Given the description of an element on the screen output the (x, y) to click on. 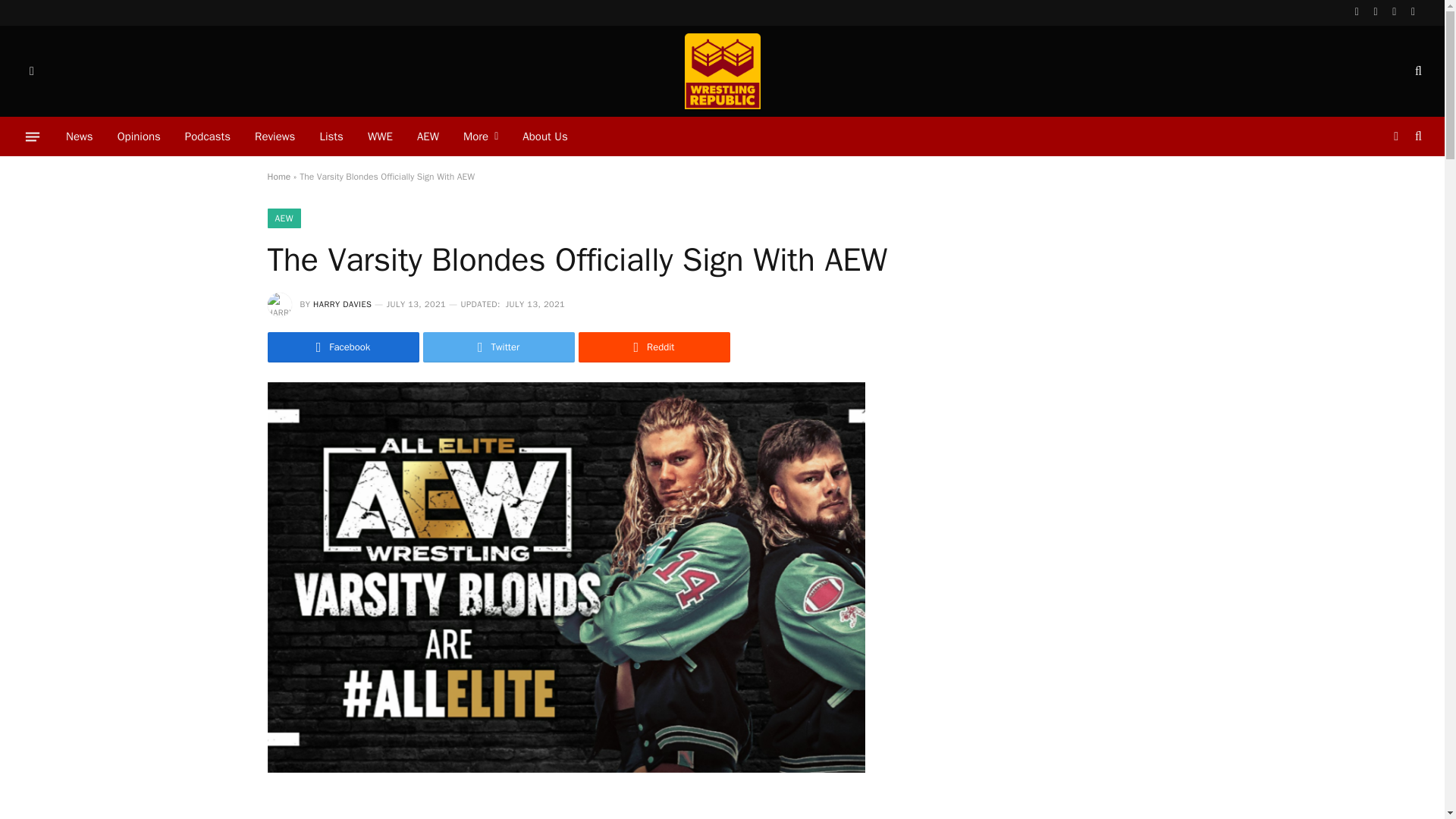
Share on Facebook (342, 347)
Switch to Dark Design - easier on eyes. (30, 70)
Opinions (138, 136)
About Us (545, 136)
Lists (331, 136)
Home (277, 176)
Switch to Dark Design - easier on eyes. (1396, 136)
Wrestling Republic (721, 71)
Posts by Harry Davies (342, 303)
Podcasts (208, 136)
AEW (282, 218)
News (78, 136)
More (481, 136)
Reviews (275, 136)
WWE (379, 136)
